Given the description of an element on the screen output the (x, y) to click on. 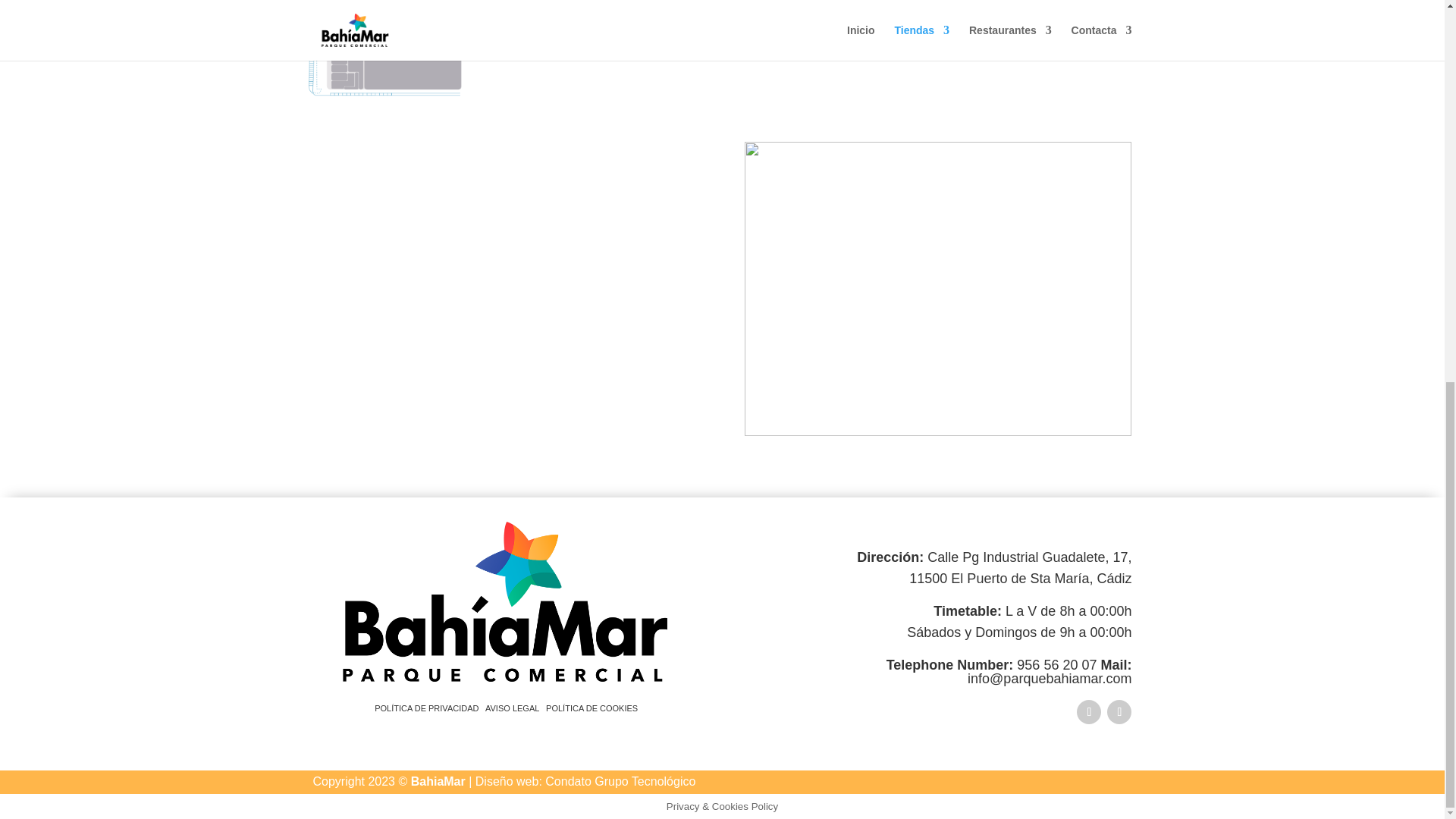
Bahia Mar - Logomarcapk (505, 601)
Follow on Facebook (1088, 711)
Follow on Instagram (1118, 711)
